Given the description of an element on the screen output the (x, y) to click on. 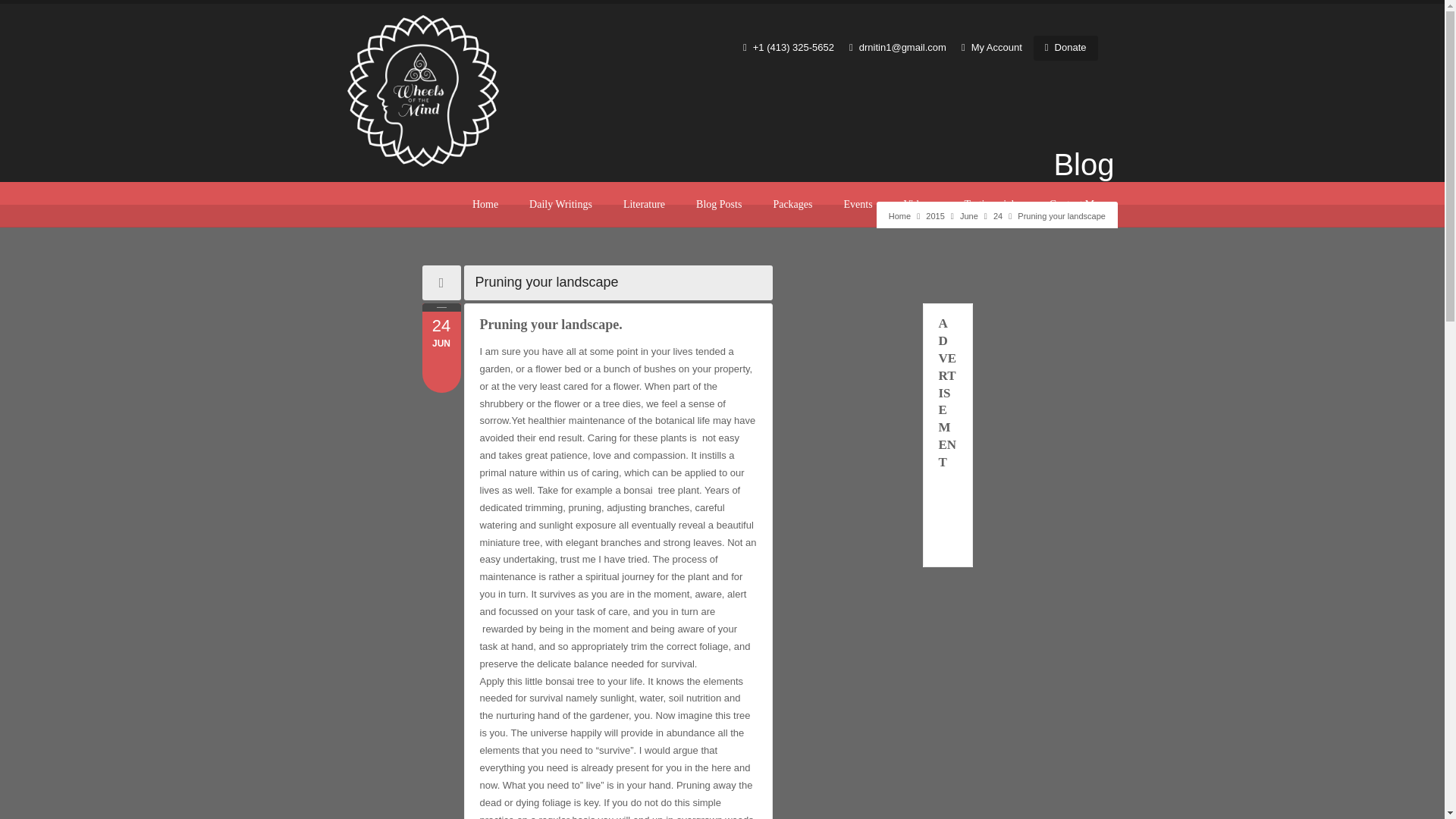
Wheels Of The Mind (899, 215)
Literature (644, 205)
Contact Me (1074, 205)
24 (997, 215)
June 24, 2015 (997, 215)
2015 (934, 215)
My Account (991, 47)
YouTube (384, 204)
June (968, 215)
Testimonials (441, 334)
Daily Writings (990, 205)
2015 (560, 205)
Packages (934, 215)
Blog (792, 205)
